Given the description of an element on the screen output the (x, y) to click on. 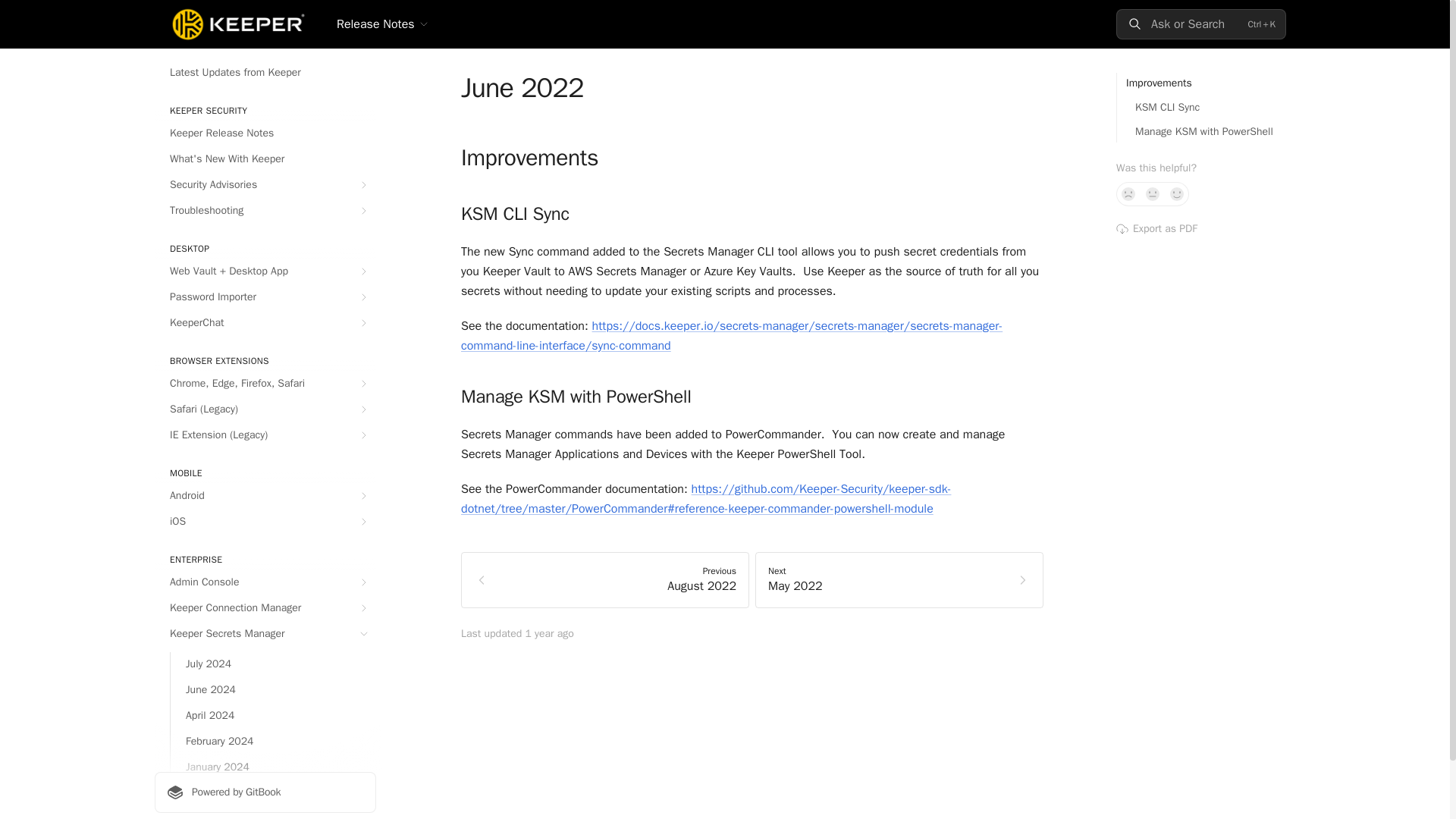
No (1128, 193)
Yes, it was! (1176, 193)
Security Advisories (264, 184)
Troubleshooting (264, 210)
Keeper Release Notes (264, 133)
Latest Updates from Keeper (264, 72)
What's New With Keeper (264, 159)
Not sure (1152, 193)
